Given the description of an element on the screen output the (x, y) to click on. 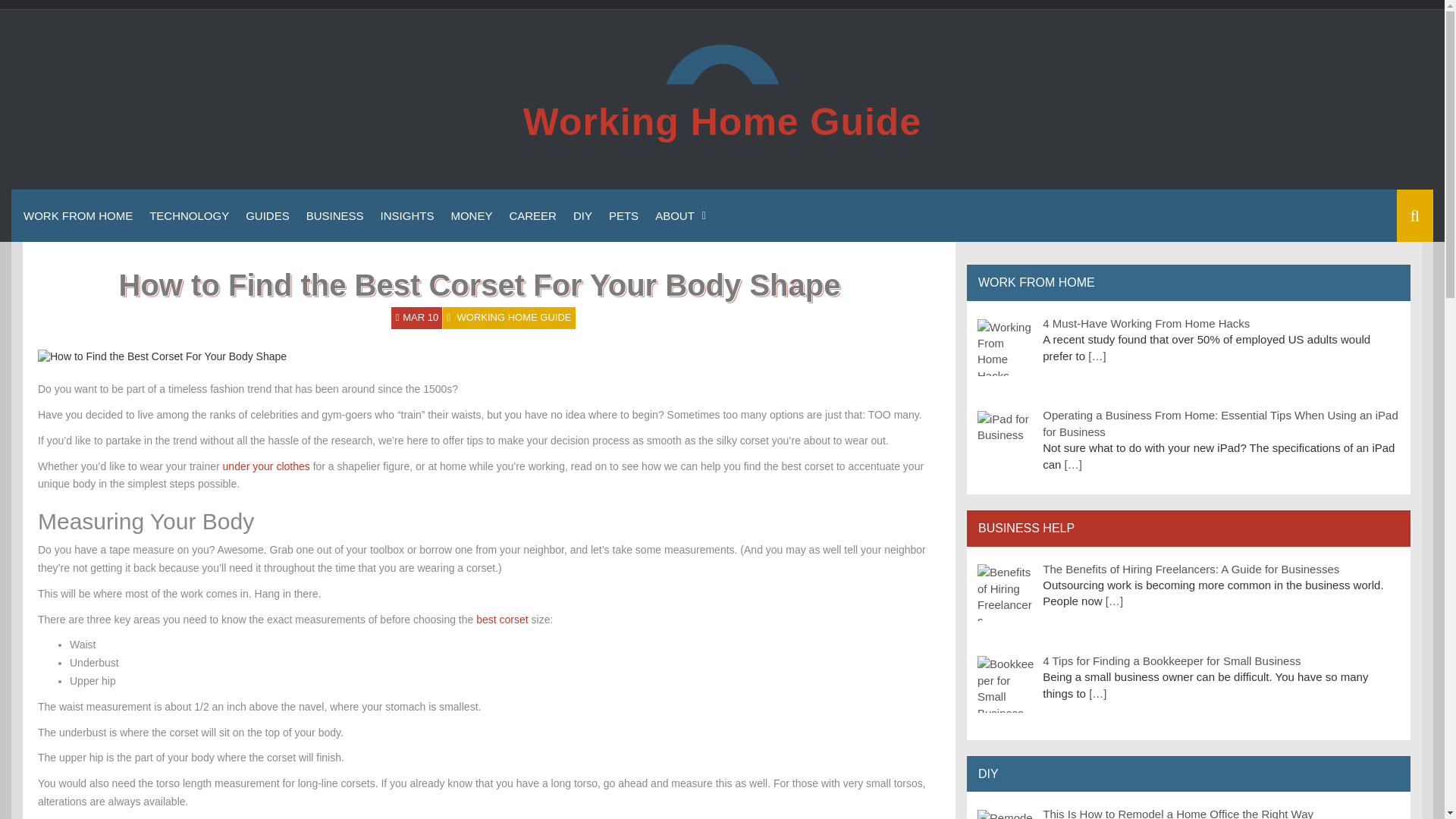
PETS (622, 215)
4 Must-Have Working From Home Hacks (1145, 323)
Working Home Guide (721, 121)
BUSINESS (335, 215)
WORKING HOME GUIDE (514, 317)
best corset (501, 619)
CAREER (532, 215)
ABOUT (678, 215)
WORK FROM HOME (77, 215)
GUIDES (267, 215)
INSIGHTS (407, 215)
TECHNOLOGY (189, 215)
This Is How to Remodel a Home Office the Right Way (1177, 813)
The Benefits of Hiring Freelancers: A Guide for Businesses (1190, 568)
